Given the description of an element on the screen output the (x, y) to click on. 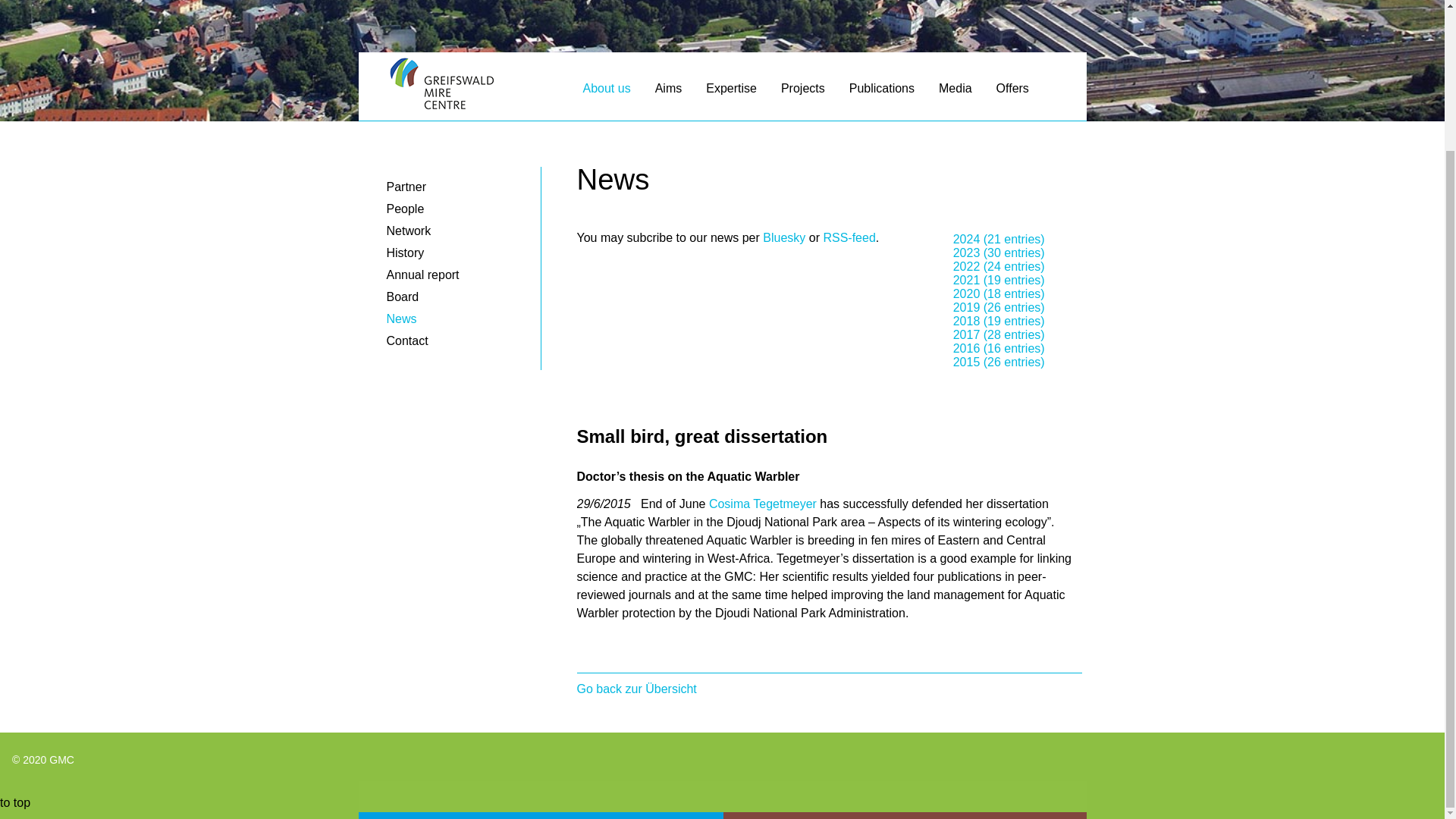
About us (606, 91)
Expertise (731, 91)
Skip navigation (364, 80)
Aims (668, 91)
About us (606, 91)
